Given the description of an element on the screen output the (x, y) to click on. 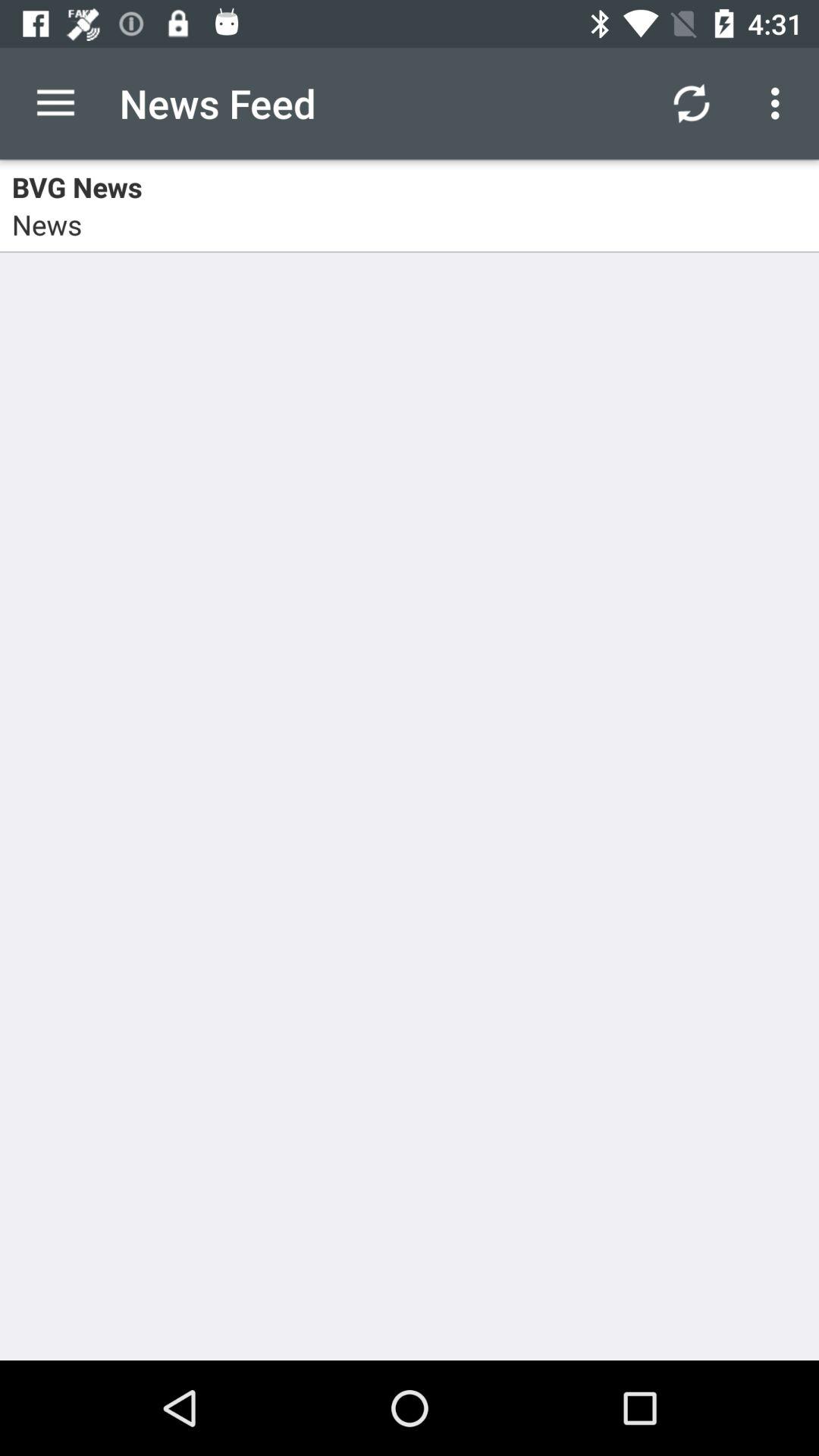
turn on the icon above the bvg news (55, 103)
